Given the description of an element on the screen output the (x, y) to click on. 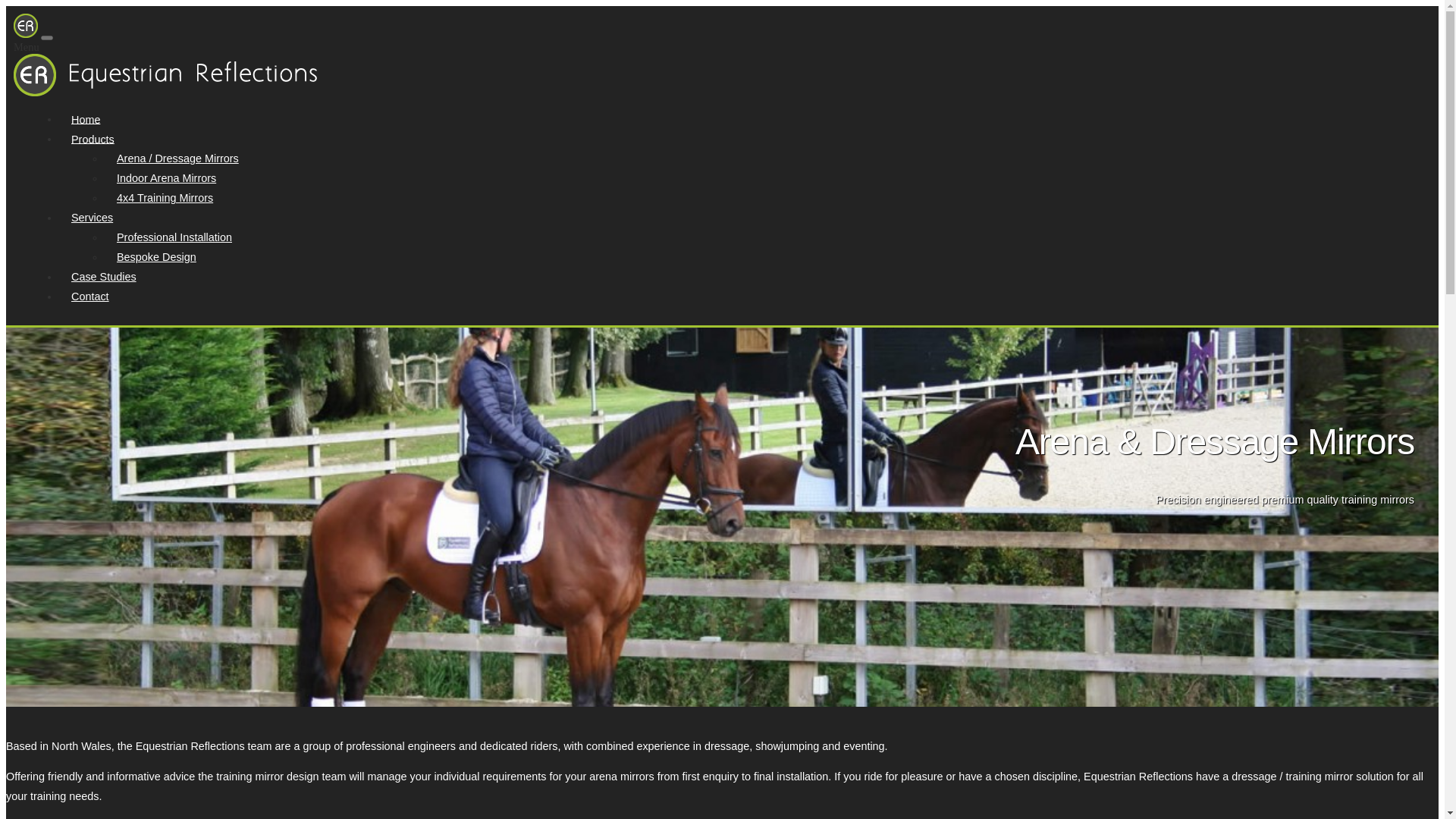
Bespoke Design (156, 257)
Professional Installation (174, 237)
Contact (89, 296)
Services (92, 217)
Products (92, 138)
Case Studies (103, 276)
4x4 Training Mirrors (164, 198)
Indoor Arena Mirrors (166, 177)
Home (85, 119)
